Given the description of an element on the screen output the (x, y) to click on. 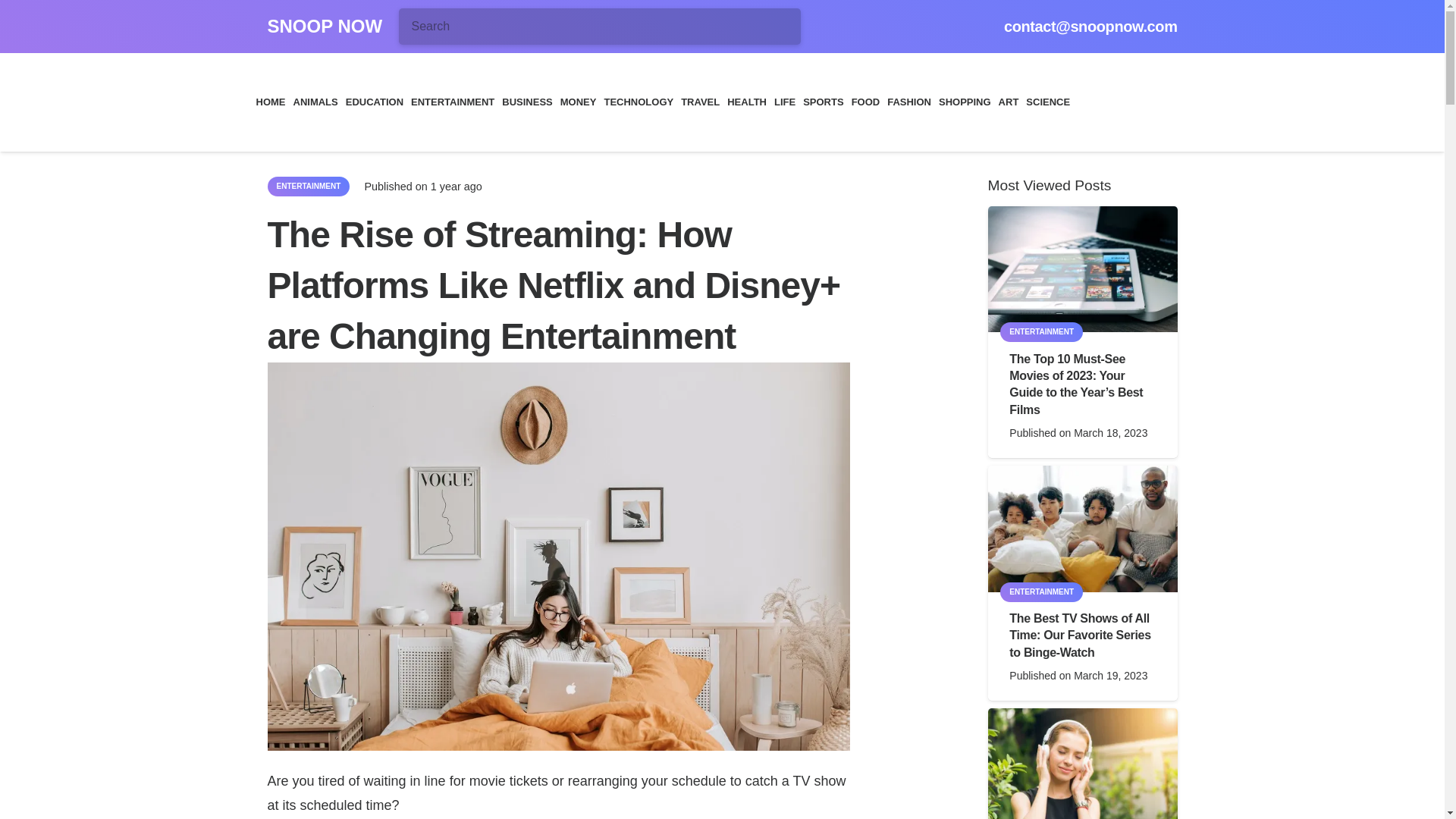
SNOOP NOW (323, 25)
ENTERTAINMENT (307, 186)
ENTERTAINMENT (452, 102)
